Given the description of an element on the screen output the (x, y) to click on. 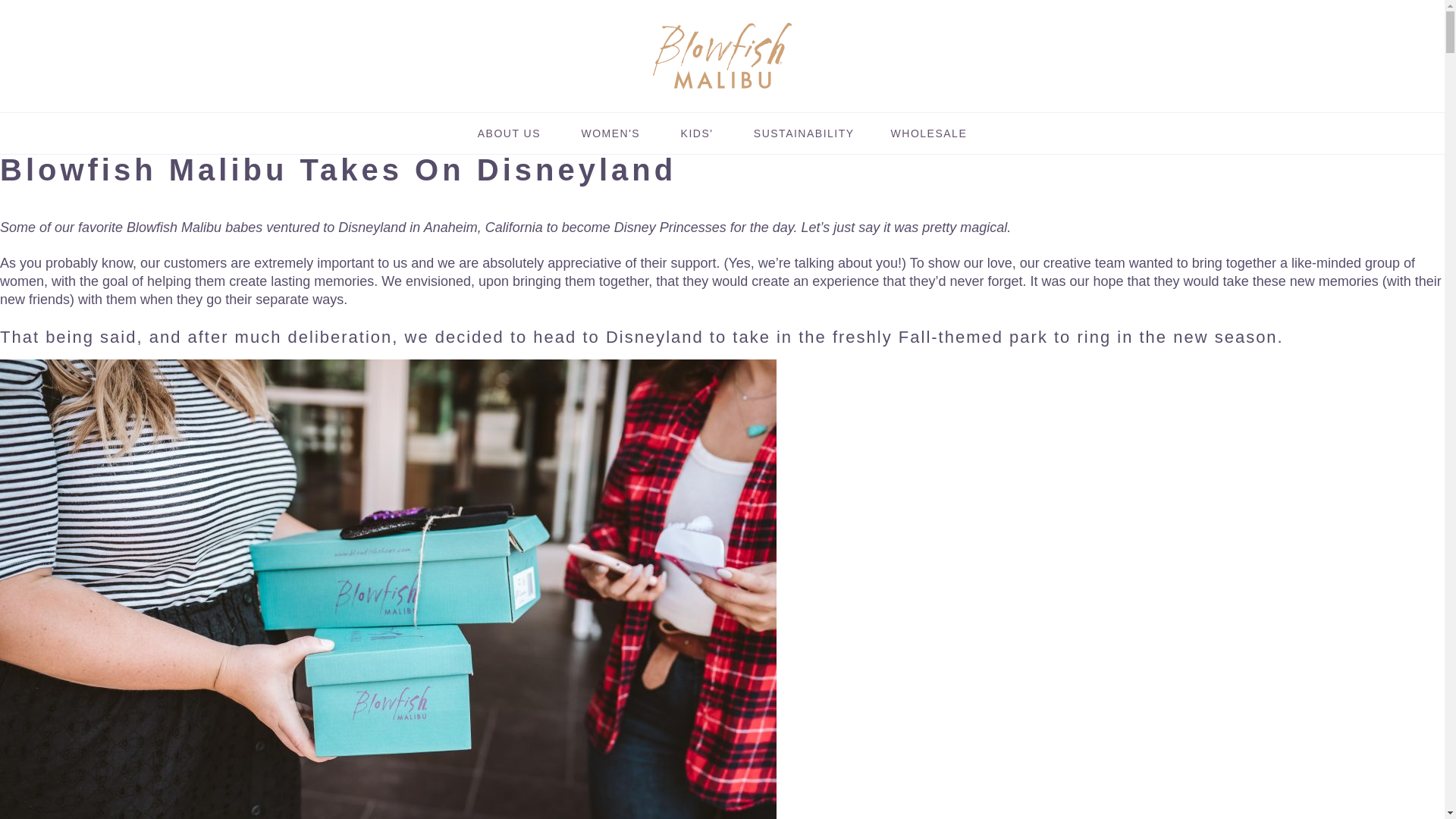
ABOUT US (509, 133)
WOMEN'S (610, 133)
SUSTAINABILITY (803, 133)
WHOLESALE (929, 133)
KIDS' (696, 133)
